Given the description of an element on the screen output the (x, y) to click on. 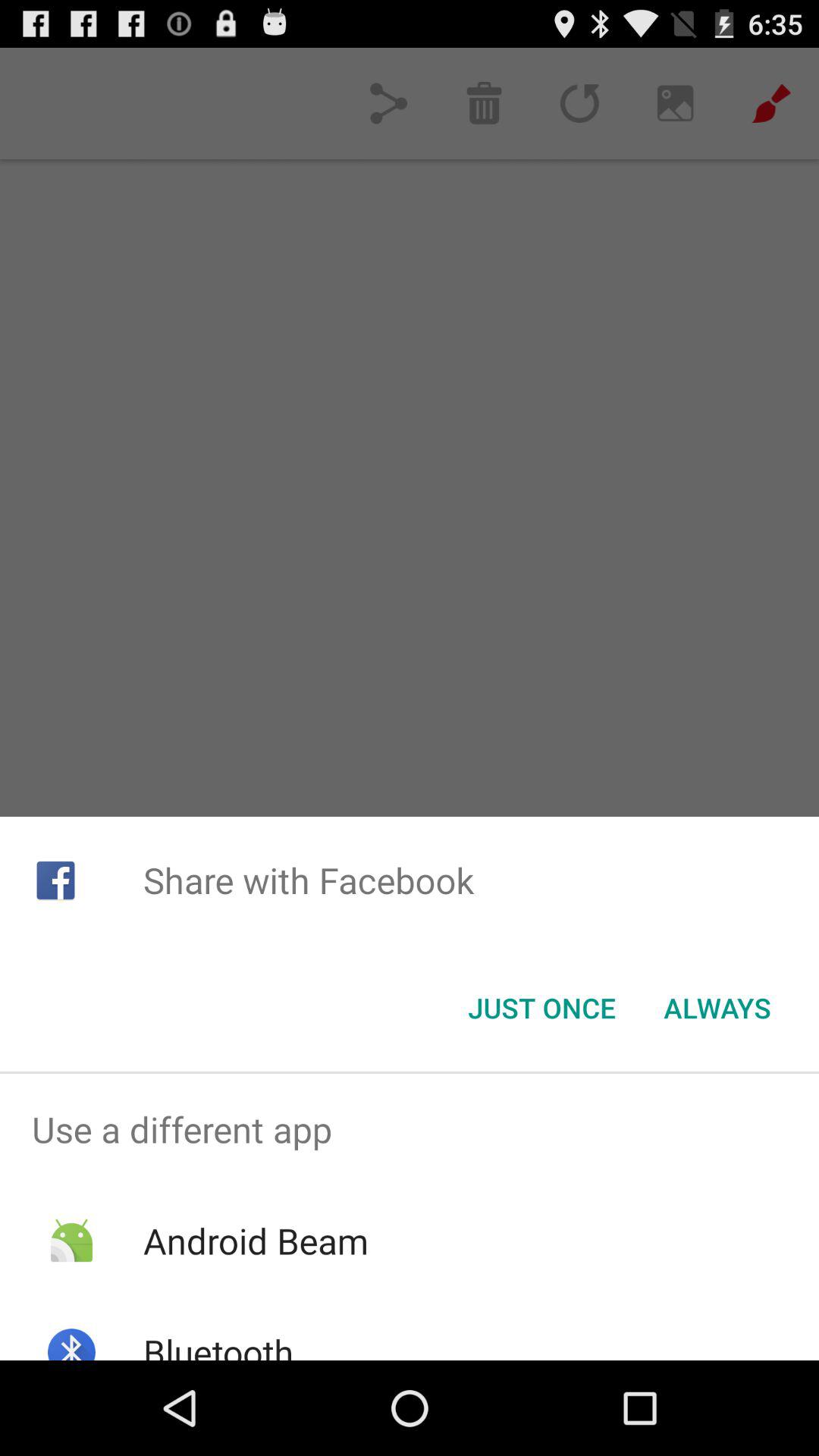
launch the button at the bottom right corner (717, 1007)
